Given the description of an element on the screen output the (x, y) to click on. 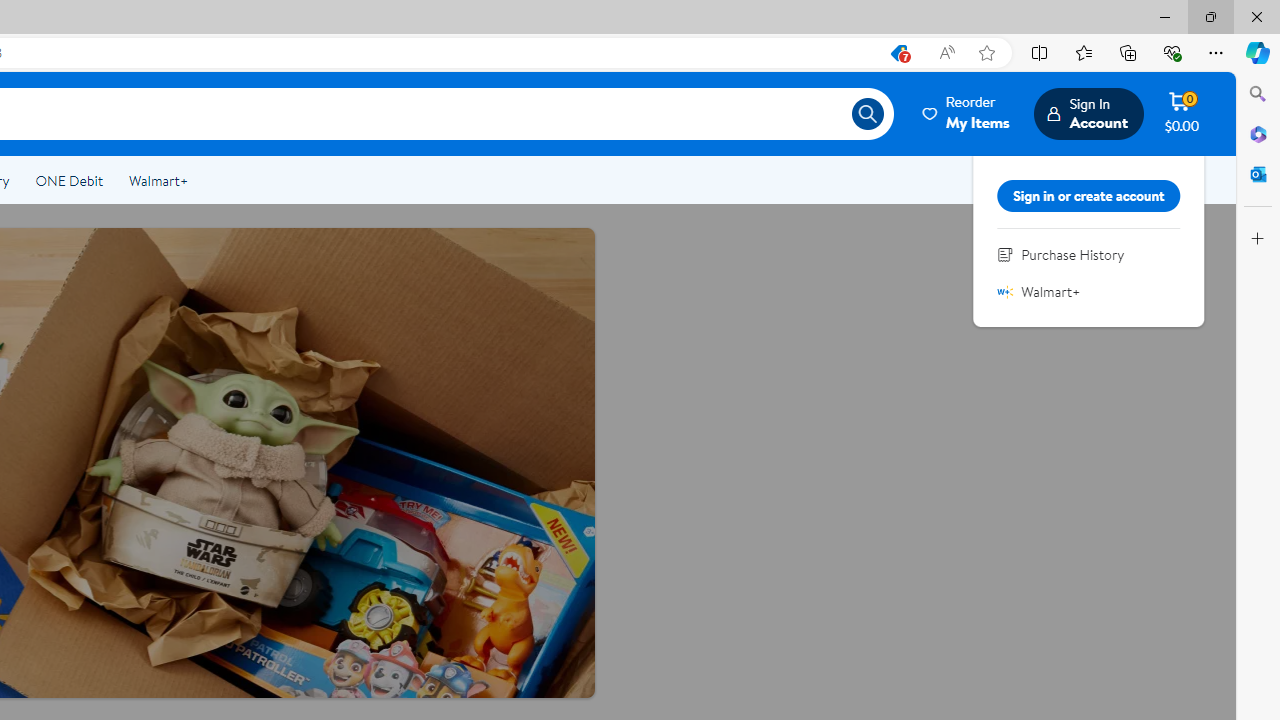
Search icon (867, 113)
Walmart+ (1005, 291)
ReorderMy Items (967, 113)
Reorder My Items (967, 113)
ONE Debit (68, 180)
This site has coupons! Shopping in Microsoft Edge, 7 (898, 53)
Cart contains 0 items Total Amount $0.00 (1182, 113)
